Given the description of an element on the screen output the (x, y) to click on. 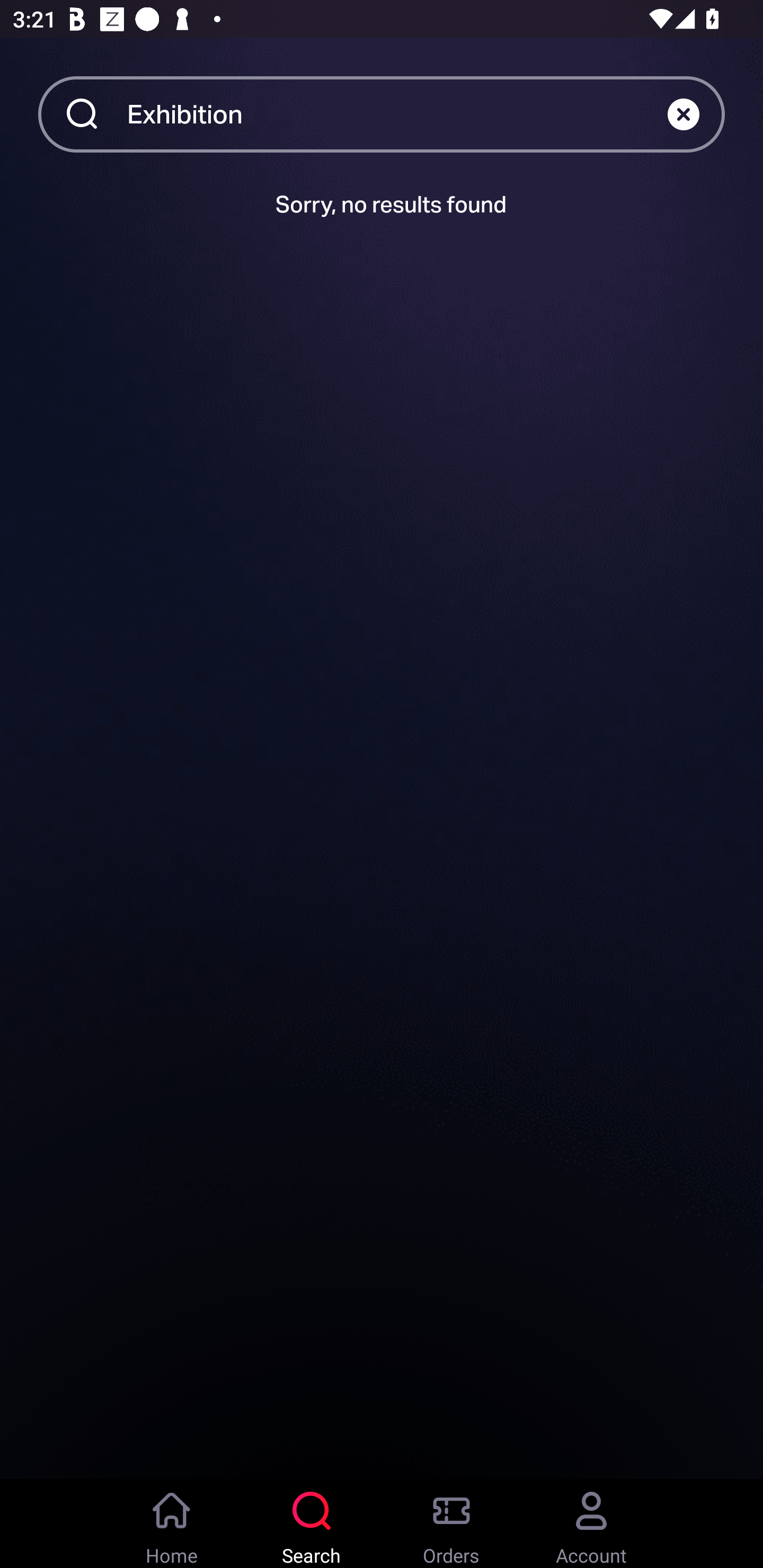
Exhibition (397, 113)
Home (171, 1523)
Orders (451, 1523)
Account (591, 1523)
